Given the description of an element on the screen output the (x, y) to click on. 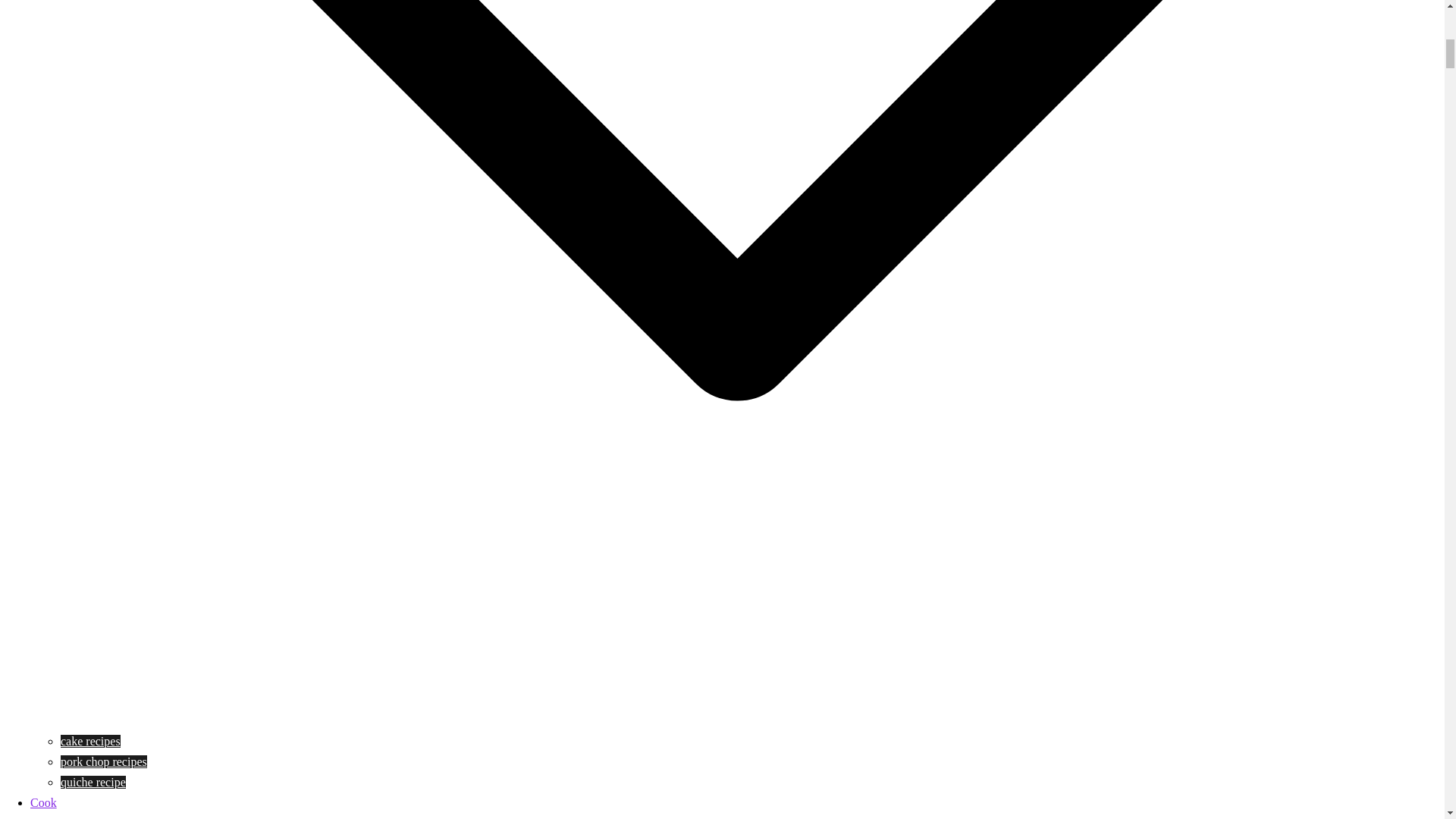
Cook (43, 802)
cake recipes (90, 740)
pork chop recipes (104, 761)
quiche recipe (93, 781)
